Given the description of an element on the screen output the (x, y) to click on. 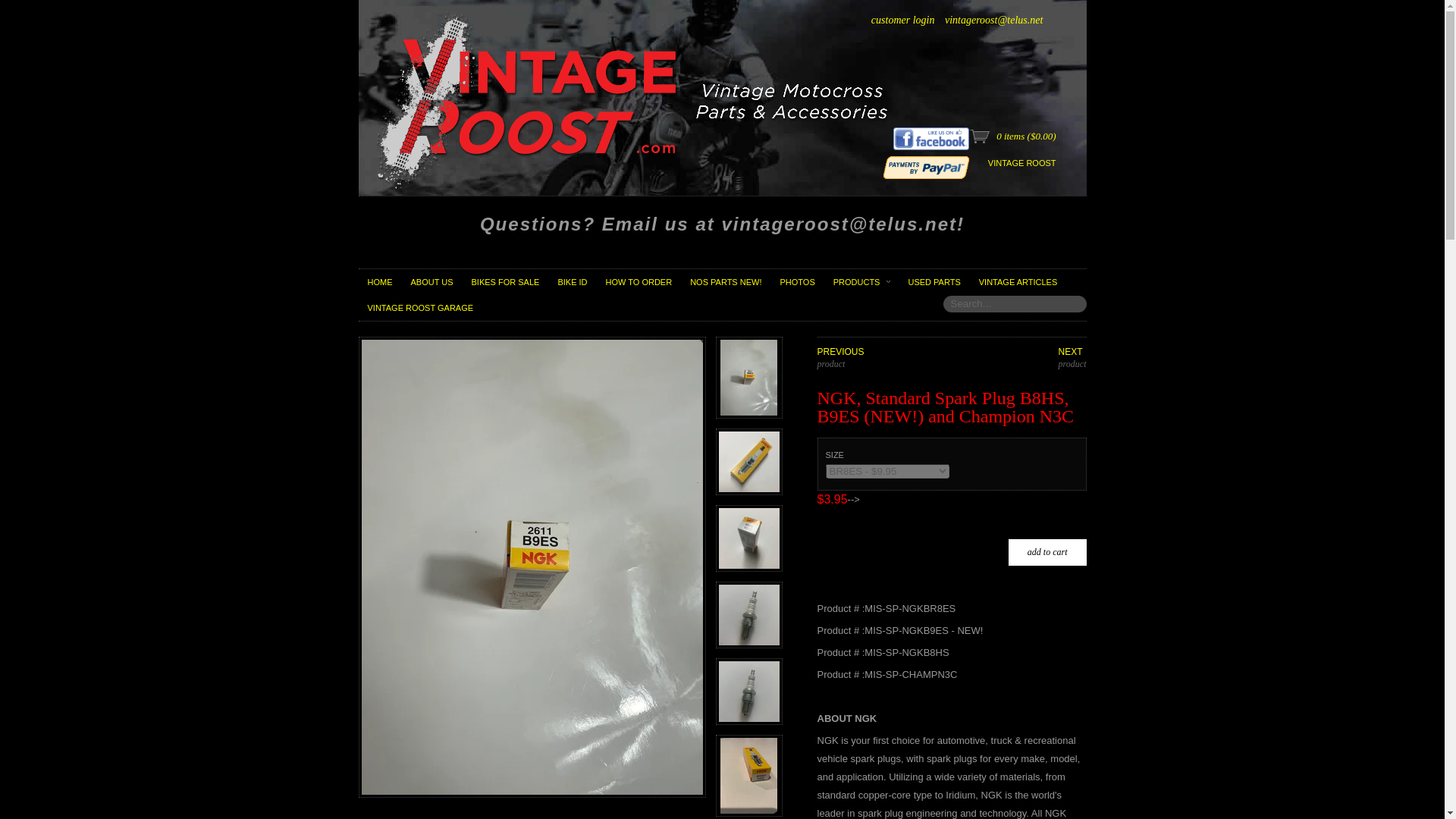
PRODUCTS (859, 281)
ABOUT US (432, 281)
HOW TO ORDER (638, 281)
HOME (379, 281)
Search... (1014, 303)
Add to Cart (1047, 551)
PHOTOS (797, 281)
VINTAGE ROOST GARAGE (419, 307)
We use PayPal! (926, 167)
USED PARTS (933, 281)
Join our Facebook Page (931, 138)
BIKES FOR SALE (505, 281)
VINTAGE ROOST (1022, 162)
NOS PARTS NEW! (725, 281)
BIKE ID (571, 281)
